Given the description of an element on the screen output the (x, y) to click on. 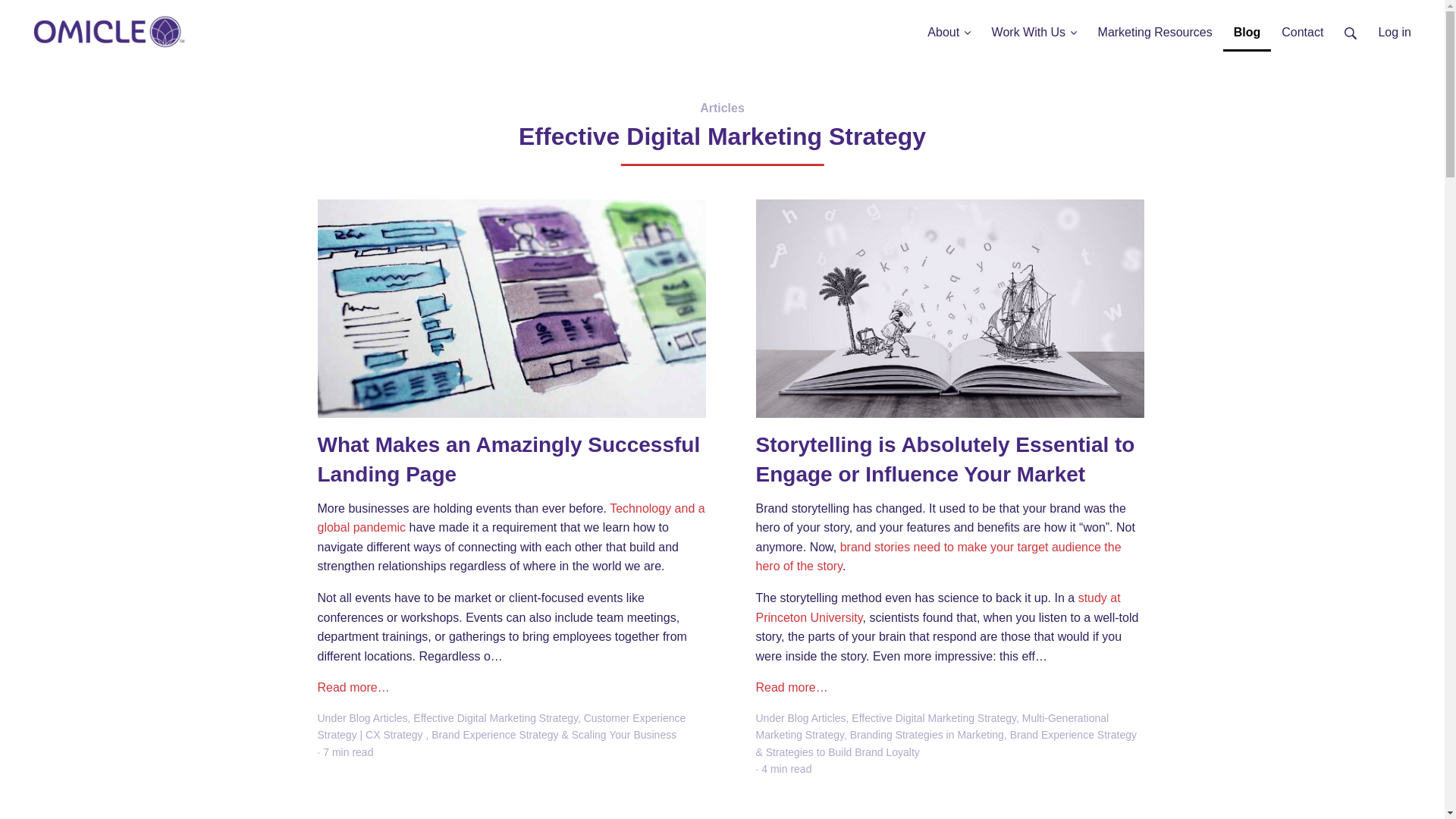
About (948, 25)
Blog Articles (816, 717)
Blog Articles (378, 717)
Effective Digital Marketing Strategy (933, 717)
Multi-Generational Marketing Strategy (931, 726)
Brand Experience Strategy (1073, 734)
Strategies to Build Brand Loyalty (842, 752)
Scaling Your Business (624, 734)
Contact (1302, 25)
study at Princeton University (937, 607)
Effective Digital Marketing Strategy (495, 717)
Brand Experience Strategy (493, 734)
Technology and a global pandemic (510, 518)
